Given the description of an element on the screen output the (x, y) to click on. 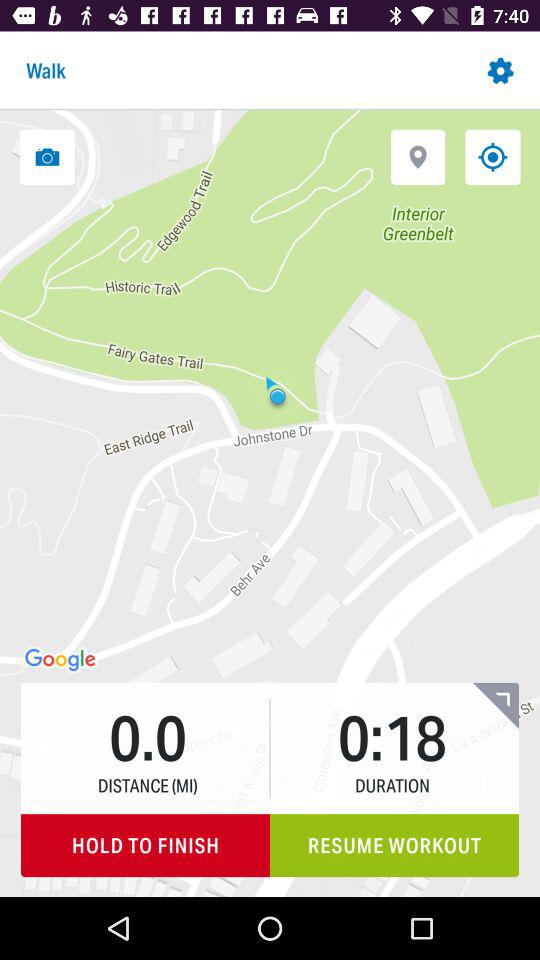
open the resume workout item (394, 845)
